Given the description of an element on the screen output the (x, y) to click on. 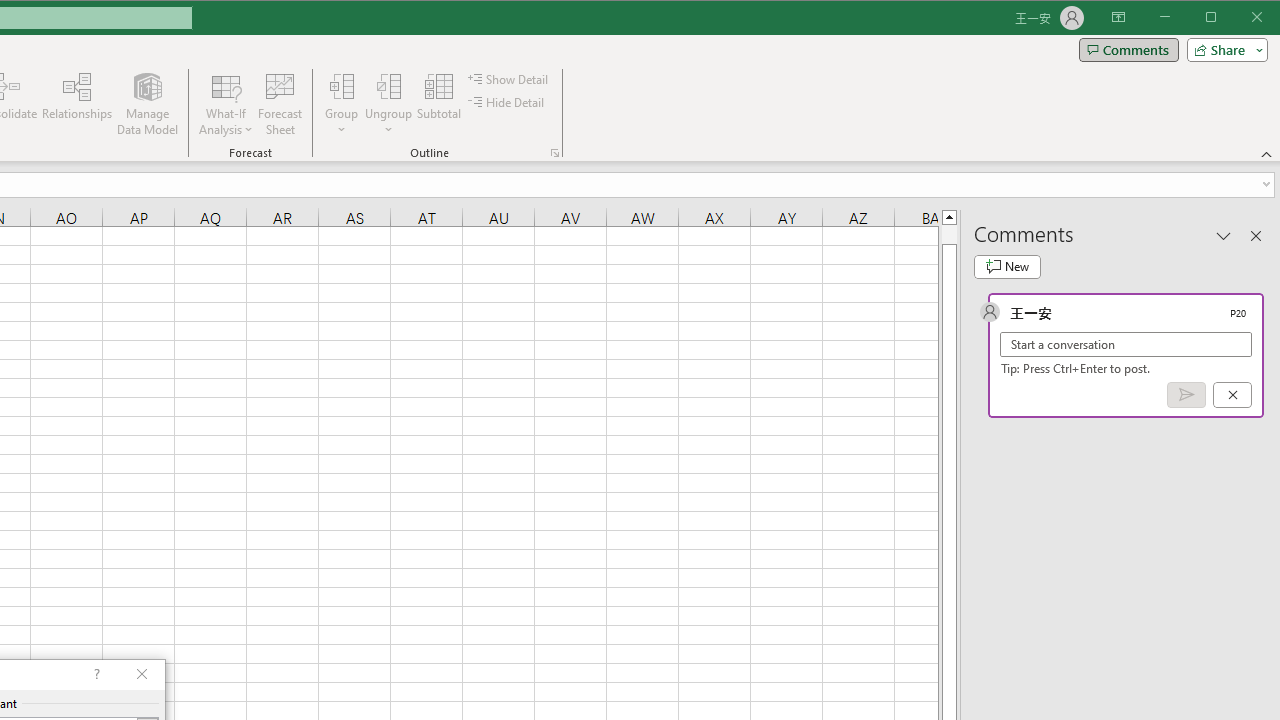
Post comment (Ctrl + Enter) (1186, 395)
Page up (948, 234)
